Given the description of an element on the screen output the (x, y) to click on. 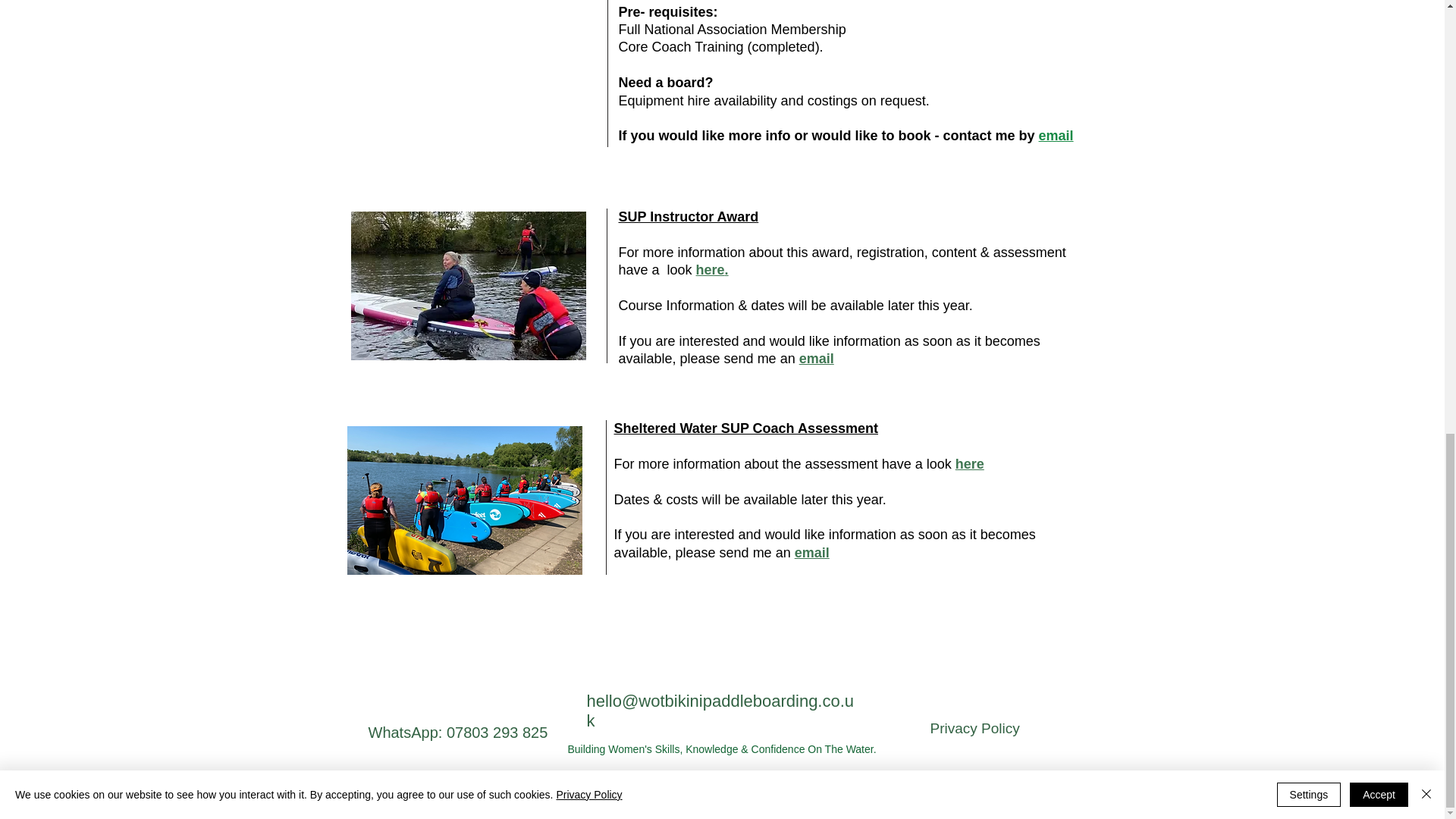
Privacy Policy (974, 728)
here (969, 463)
email (816, 358)
WhatsApp: 07803 293 825 (458, 732)
here.  (713, 269)
email (811, 552)
email (1056, 135)
